Given the description of an element on the screen output the (x, y) to click on. 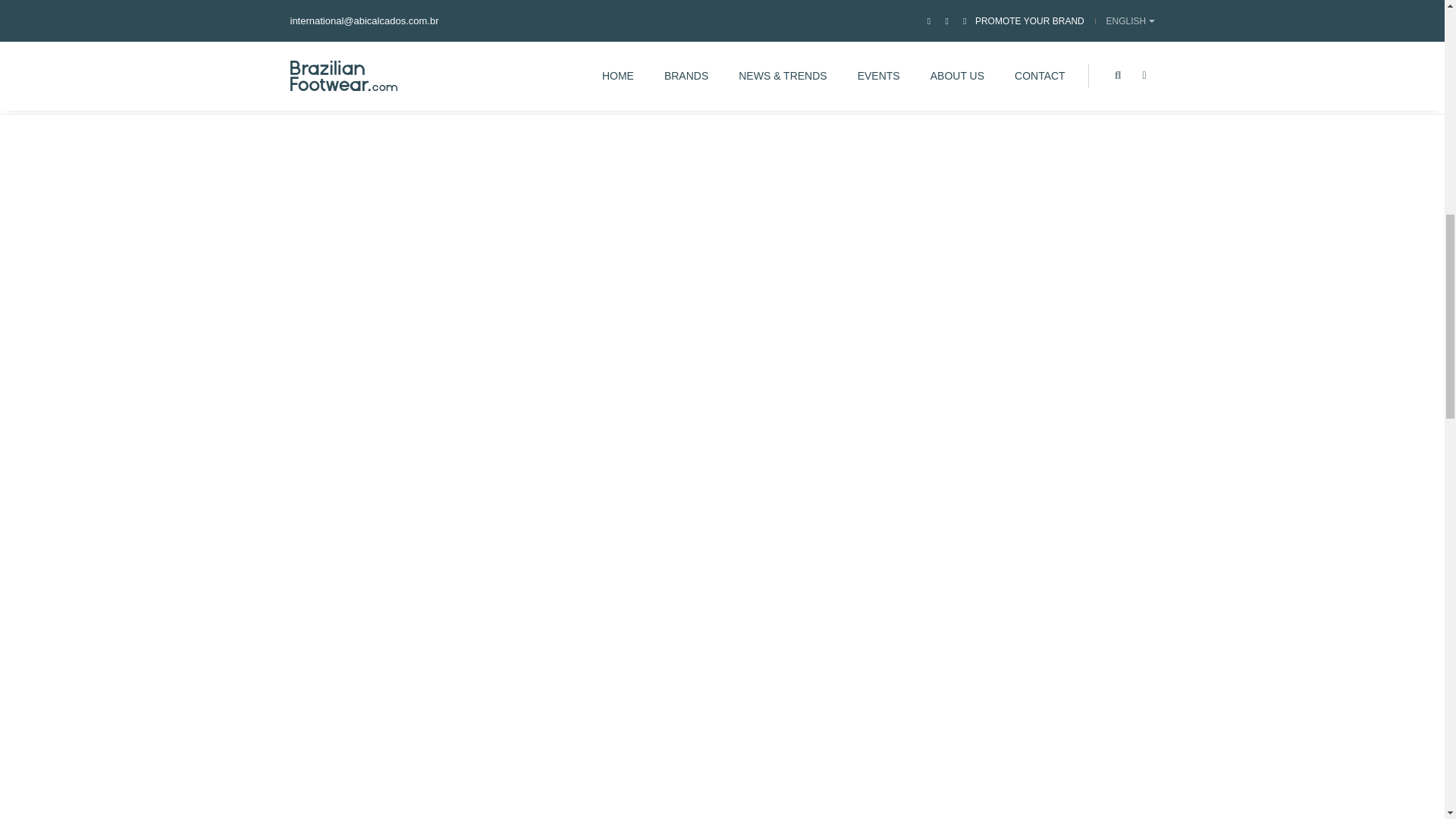
GET IN TOUCH (1054, 56)
www.uza.com.br (537, 60)
